Given the description of an element on the screen output the (x, y) to click on. 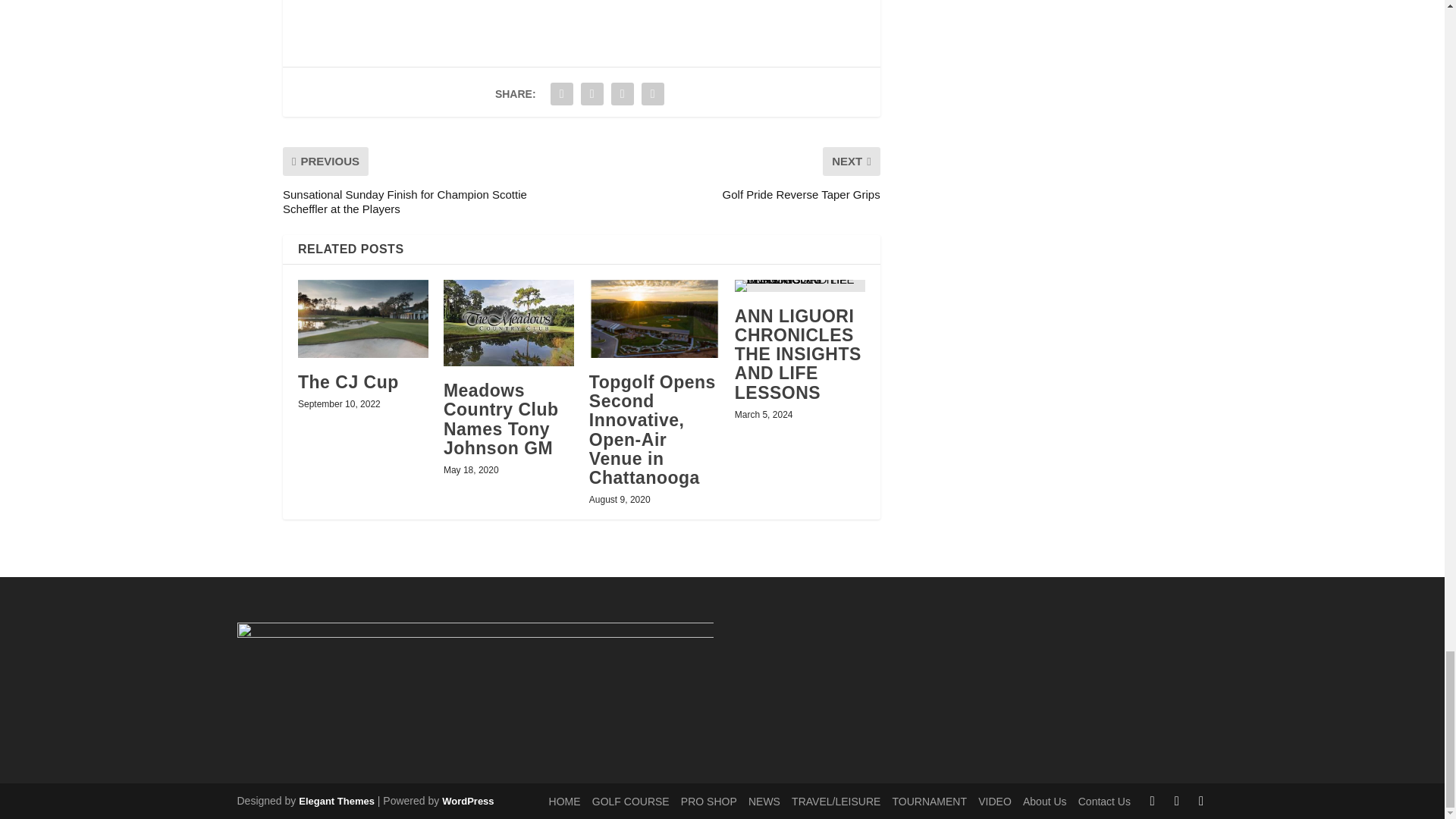
Meadows Country Club Names Tony Johnson GM (501, 418)
Premium WordPress Themes (336, 800)
The CJ Cup (348, 382)
The CJ Cup (363, 318)
ANN LIGUORI CHRONICLES THE INSIGHTS AND LIFE LESSONS (799, 285)
Meadows Country Club Names Tony Johnson GM (508, 323)
